Given the description of an element on the screen output the (x, y) to click on. 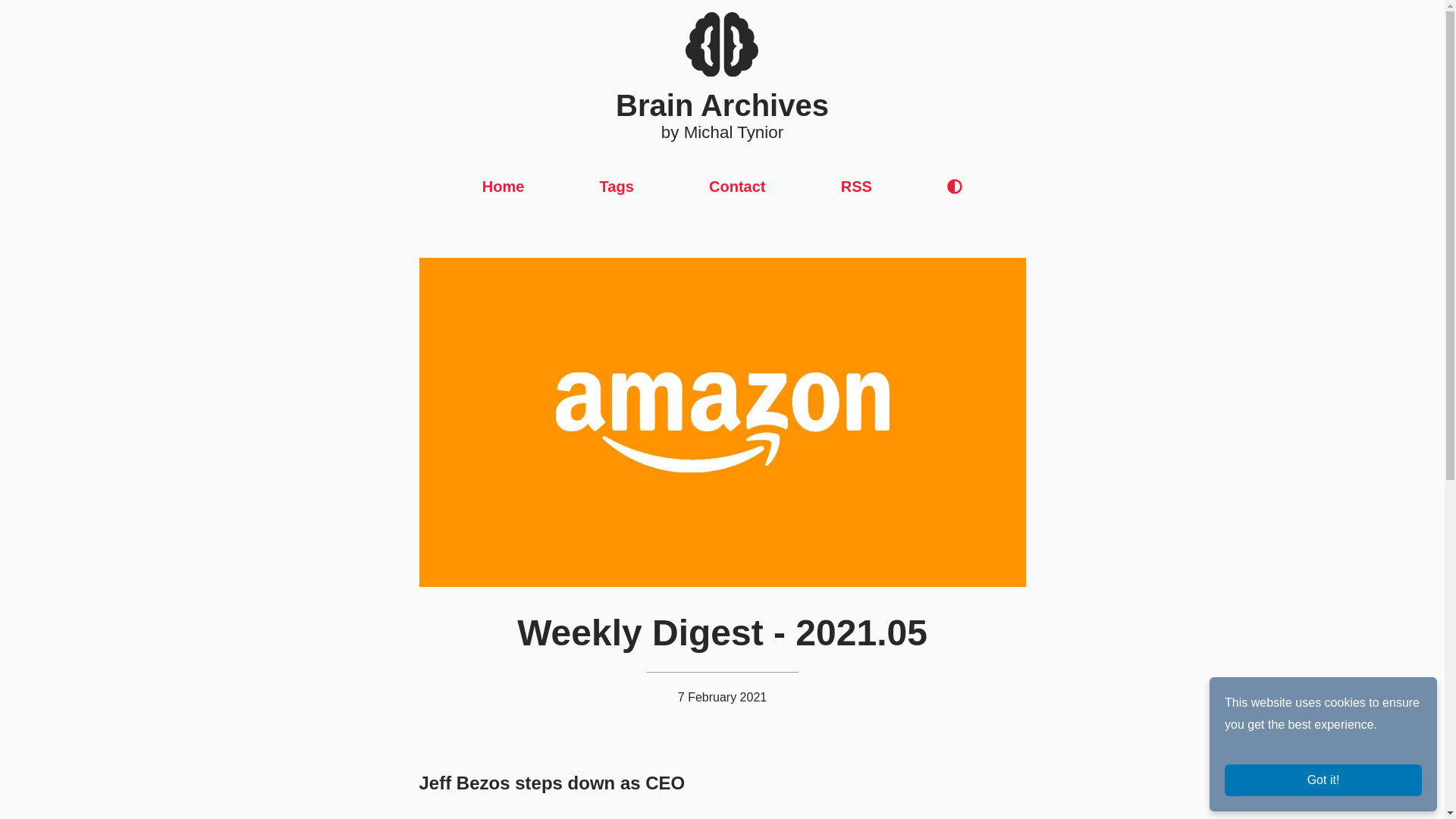
Contact (737, 186)
Tags (616, 186)
Got it! (1323, 780)
Brain Archives (721, 67)
Contact (737, 186)
Home (502, 186)
RSS (856, 186)
Home (502, 186)
Tags (616, 186)
Brain Archives (721, 67)
RSS (856, 186)
